Given the description of an element on the screen output the (x, y) to click on. 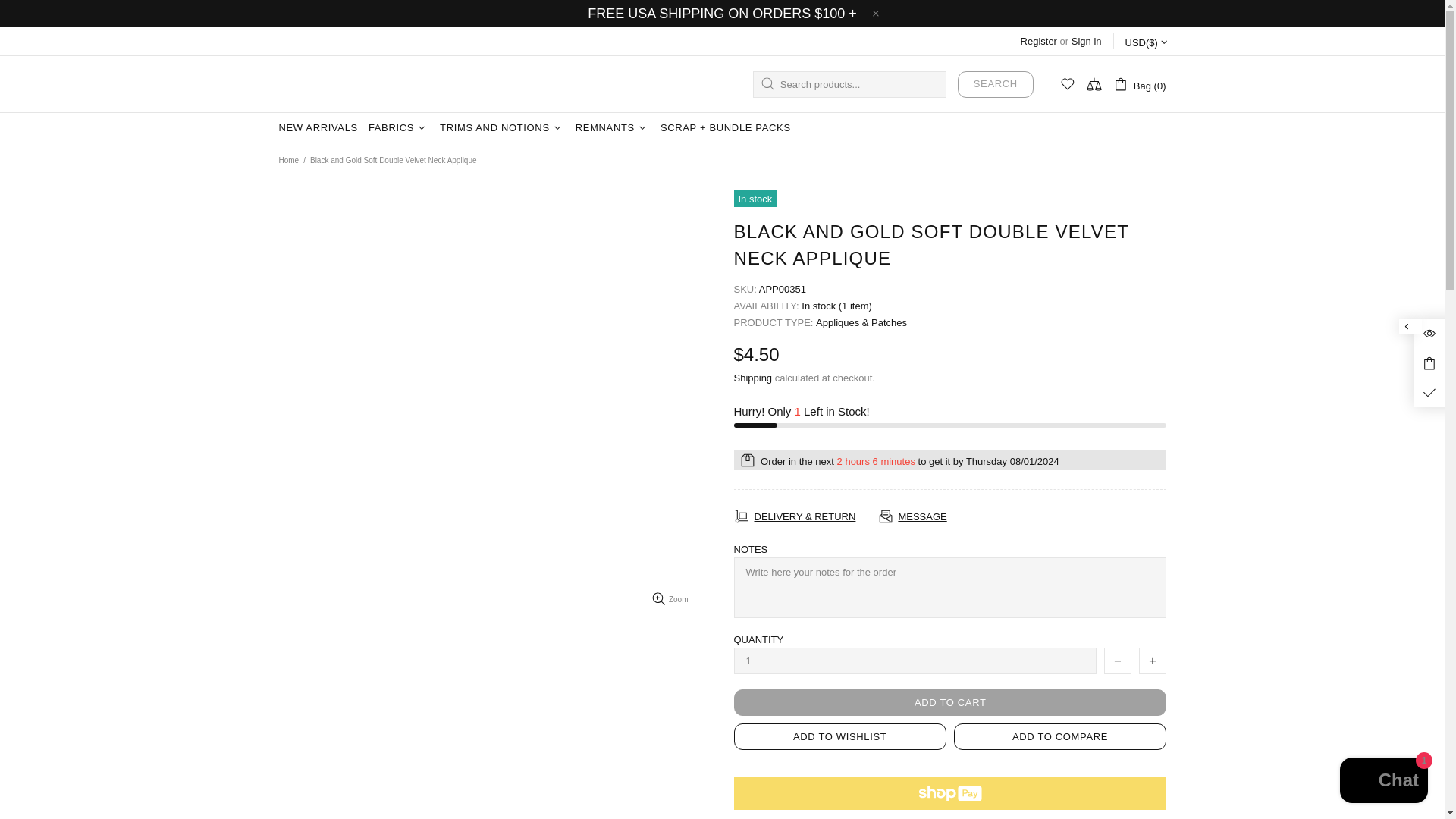
FABRICS (397, 128)
Felinus Fabrics (350, 84)
TRIMS AND NOTIONS (501, 128)
Sign in (1086, 41)
NEW ARRIVALS (317, 128)
Register (1038, 41)
1 (914, 660)
SEARCH (995, 84)
Shopify online store chat (1383, 781)
